Given the description of an element on the screen output the (x, y) to click on. 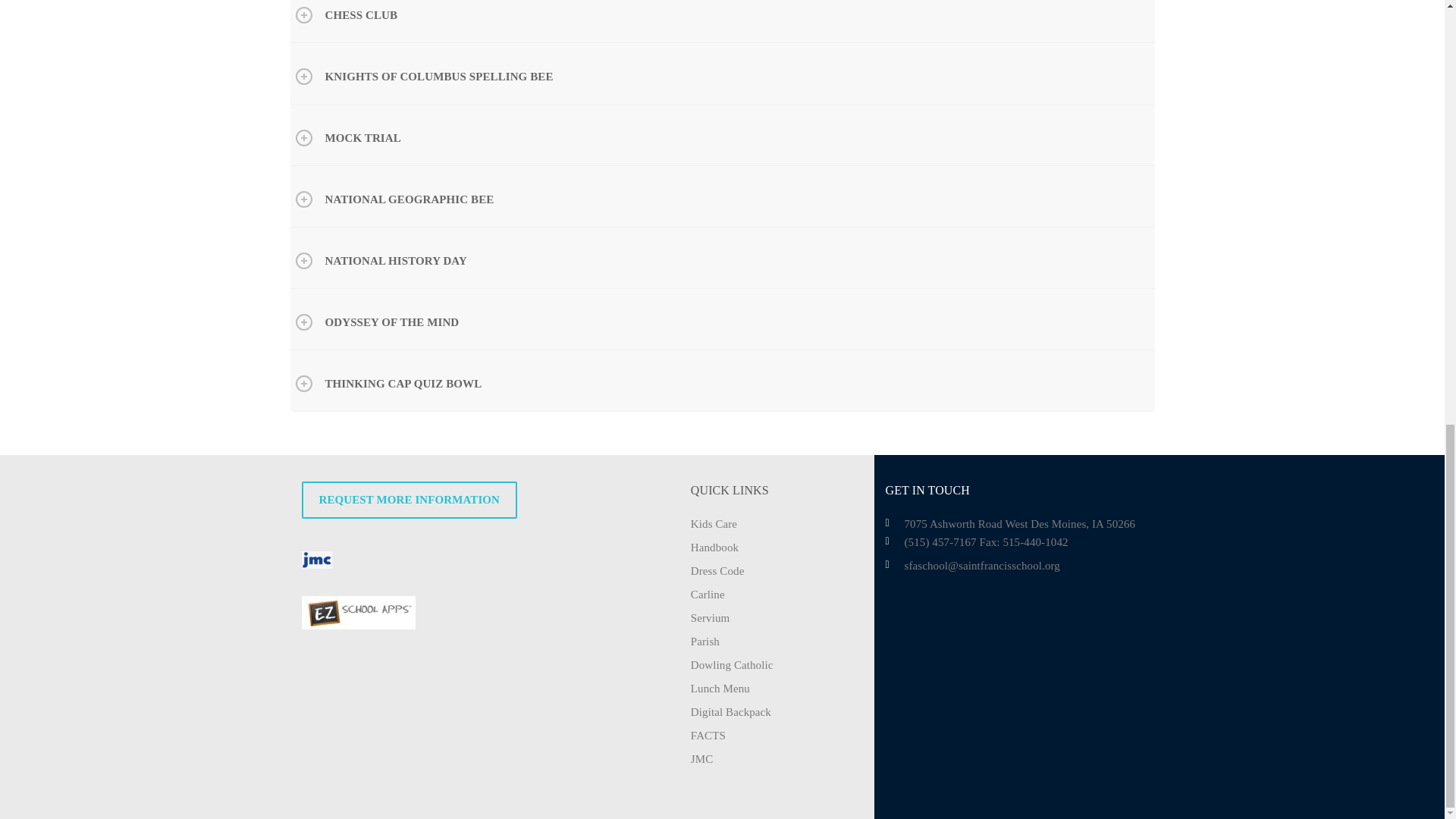
EZ School Logo (357, 612)
